Given the description of an element on the screen output the (x, y) to click on. 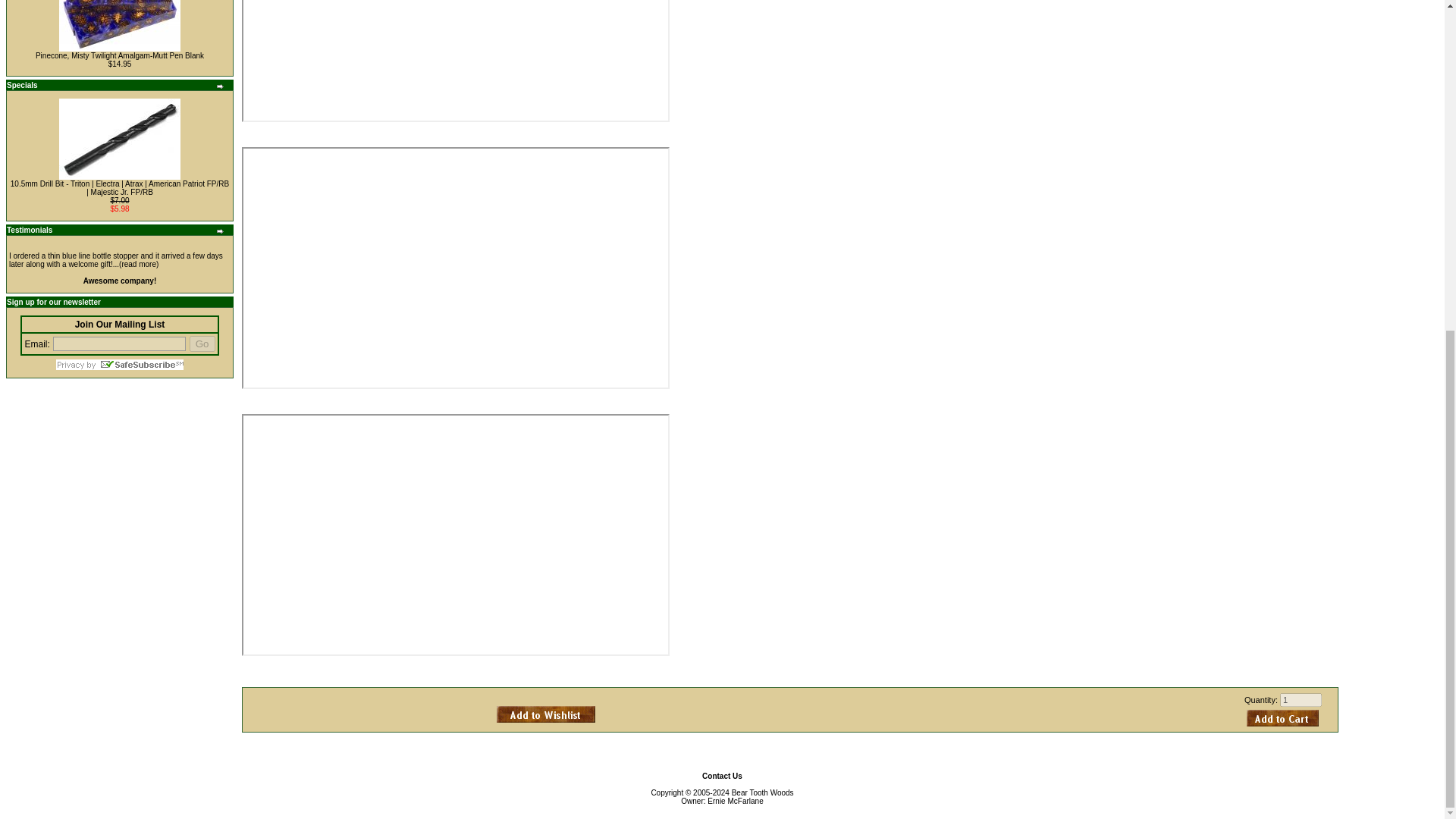
Go (202, 343)
 more  (220, 231)
wishlist (545, 713)
 Add to Wishlist  (545, 713)
1 (1300, 699)
 Pinecone, Misty Twilight Amalgam-Mutt Pen Blank  (119, 25)
 more  (220, 86)
 Add to Cart  (1282, 718)
